Given the description of an element on the screen output the (x, y) to click on. 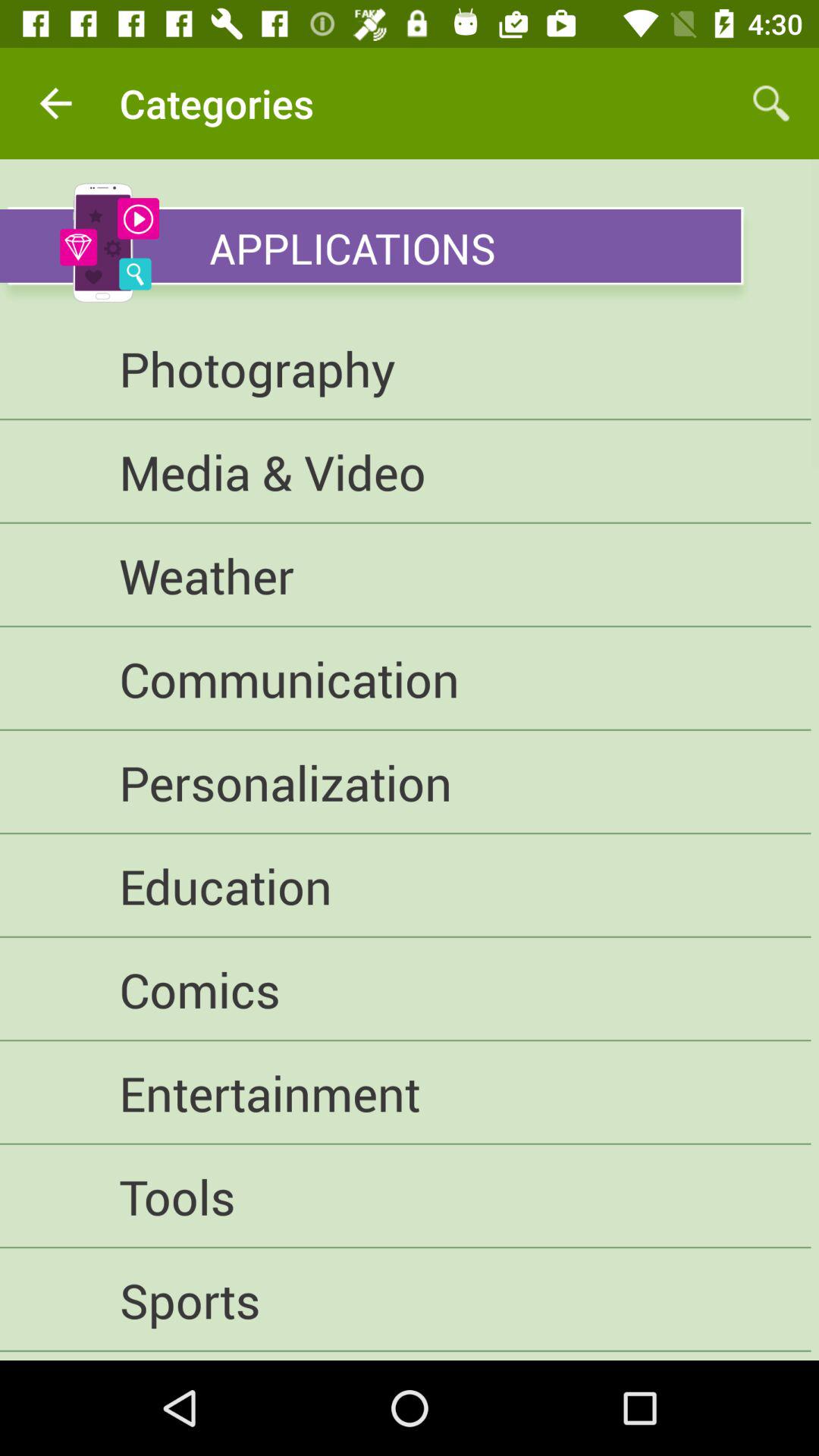
turn off sports (405, 1299)
